Given the description of an element on the screen output the (x, y) to click on. 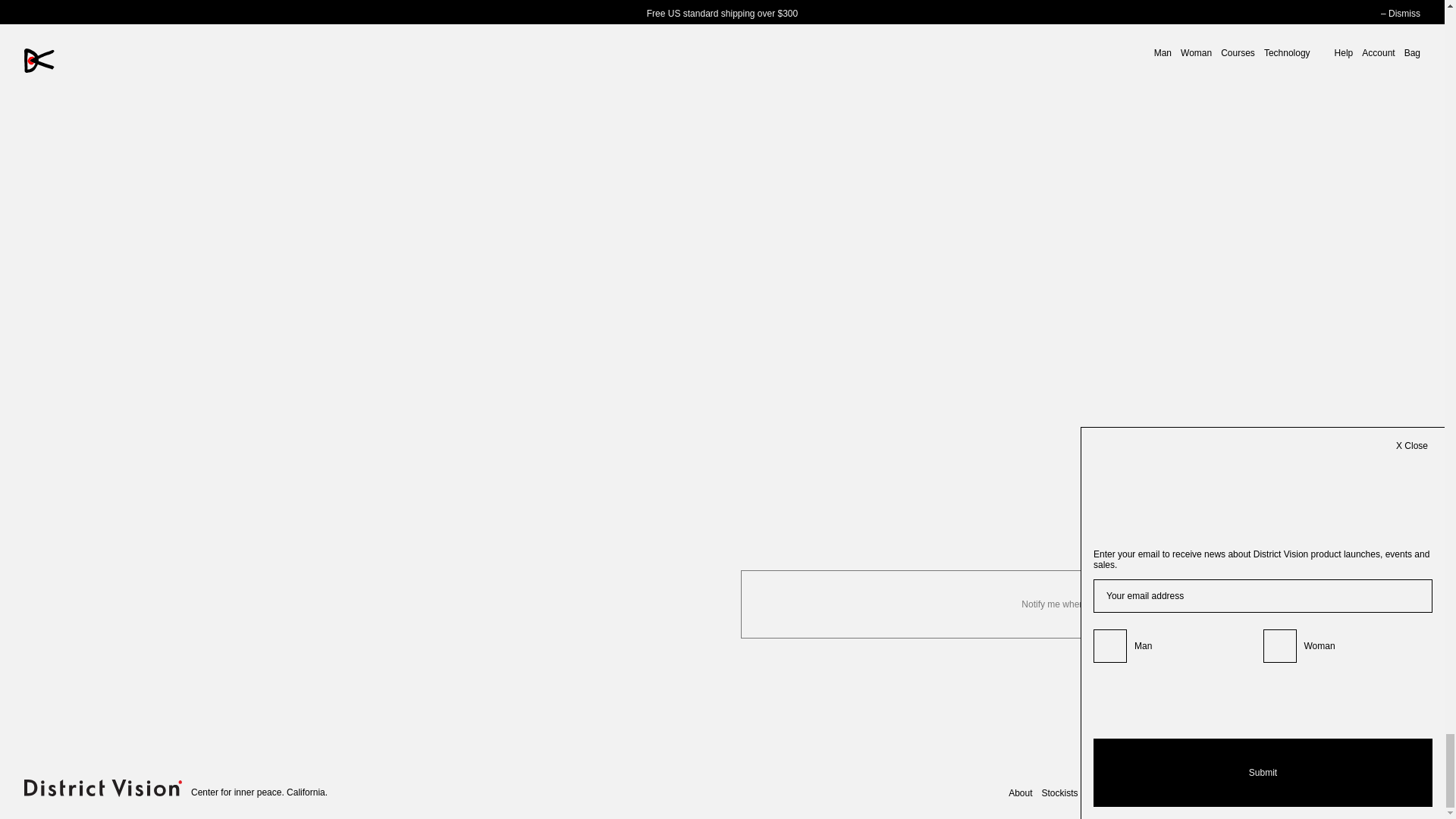
Returns (1199, 791)
Newsletter (1109, 791)
Stockists (1059, 791)
Instagram (1278, 791)
Policy (1236, 791)
Shipping (1156, 791)
About (1020, 791)
